Given the description of an element on the screen output the (x, y) to click on. 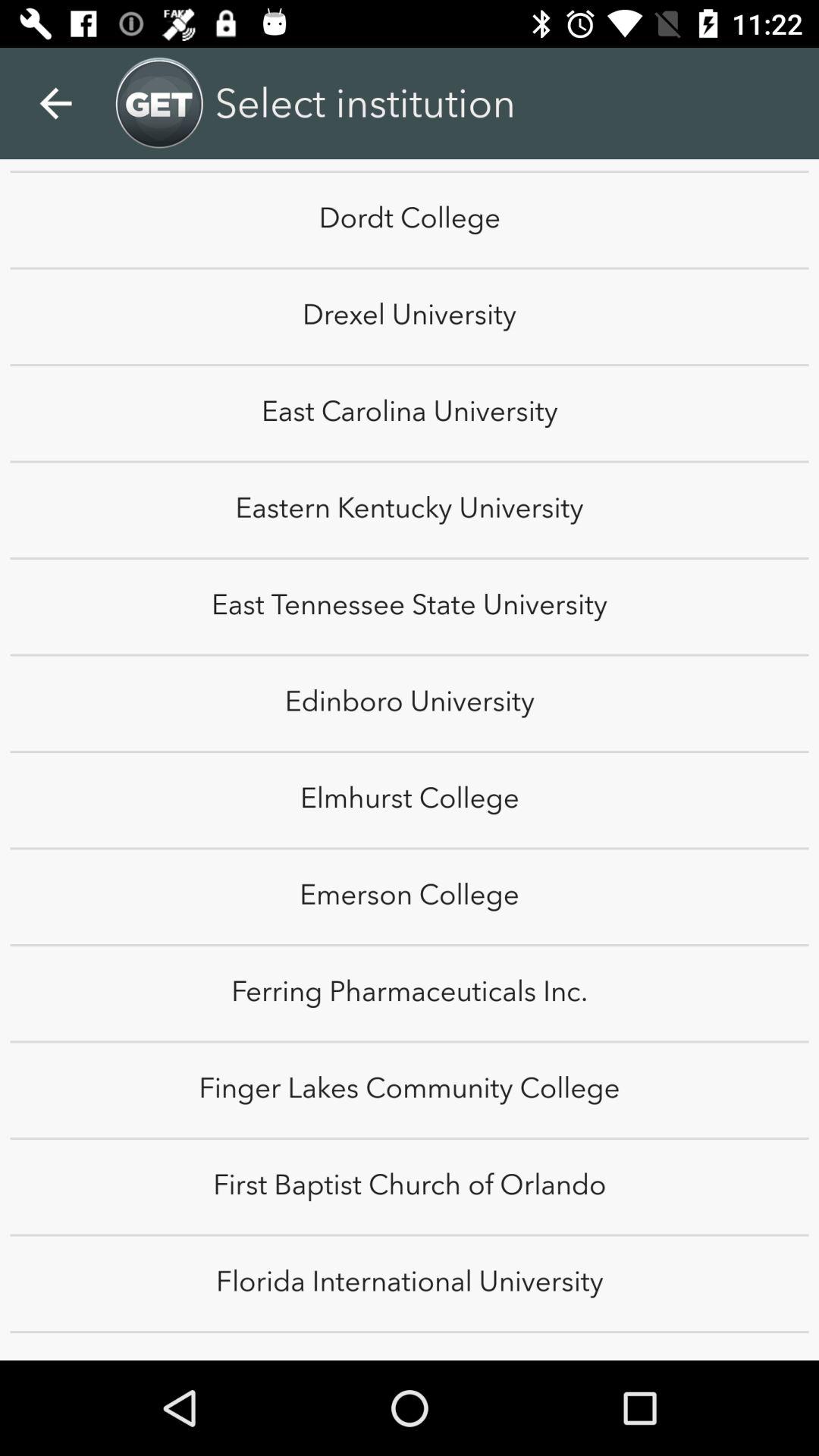
turn off item above dordt college (55, 103)
